Given the description of an element on the screen output the (x, y) to click on. 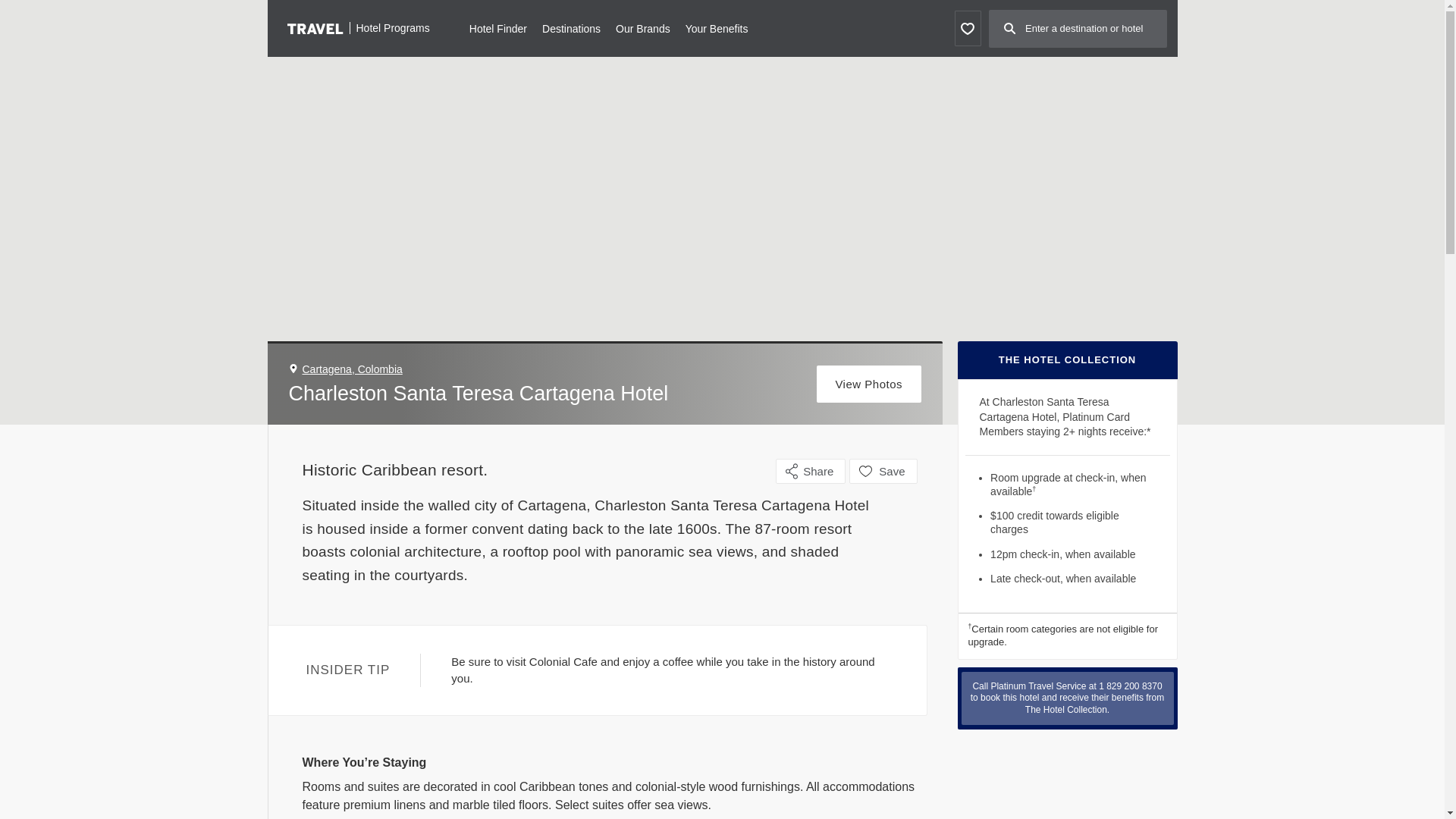
Cartagena, Colombia (351, 369)
Share (810, 471)
Your Benefits (716, 27)
View Photos (868, 383)
Destinations (570, 27)
Hotel Finder (497, 27)
Our Brands (642, 27)
Save (882, 471)
Hotel Programs (357, 27)
